Given the description of an element on the screen output the (x, y) to click on. 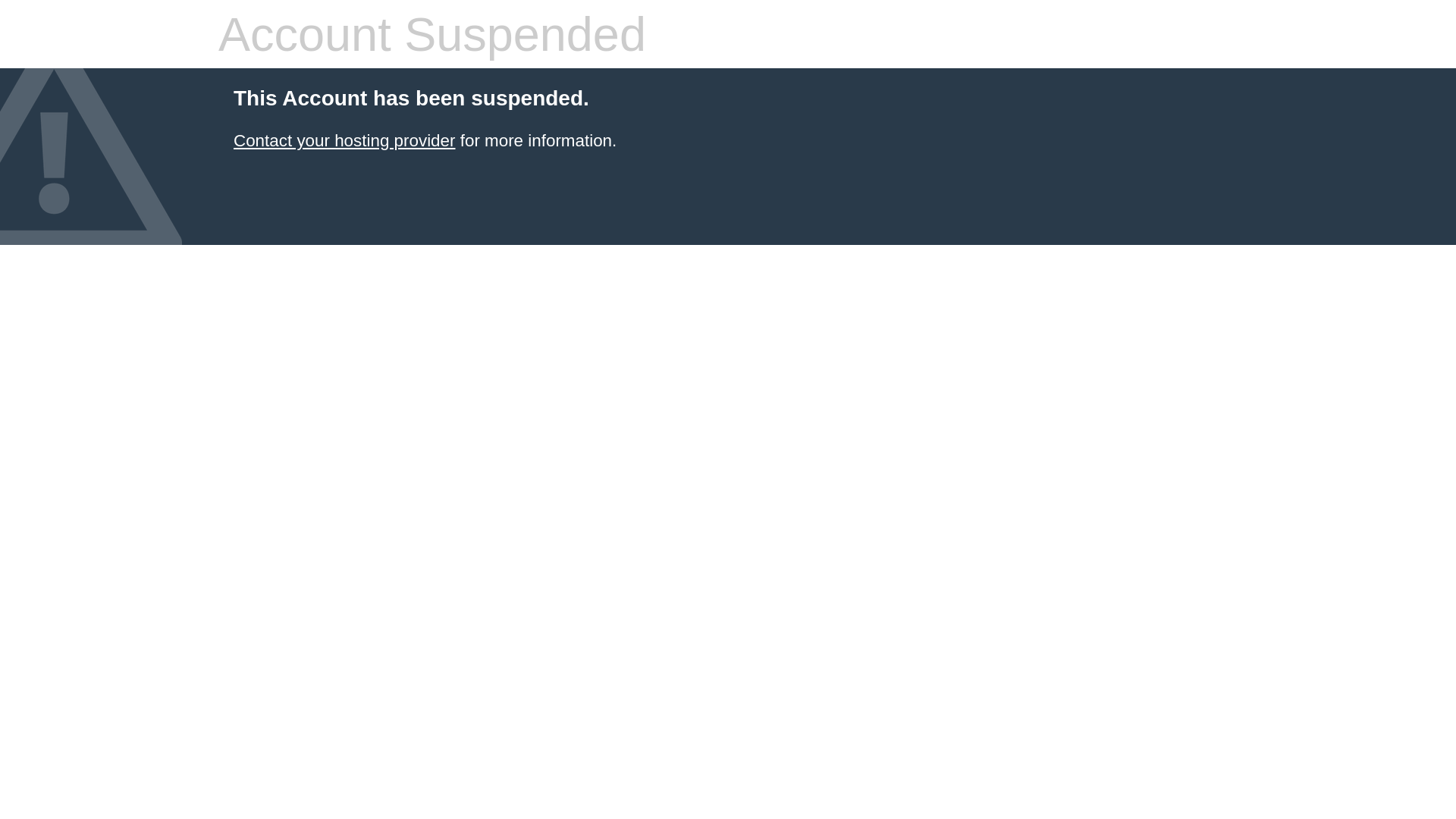
Contact your hosting provider Element type: text (344, 140)
